Given the description of an element on the screen output the (x, y) to click on. 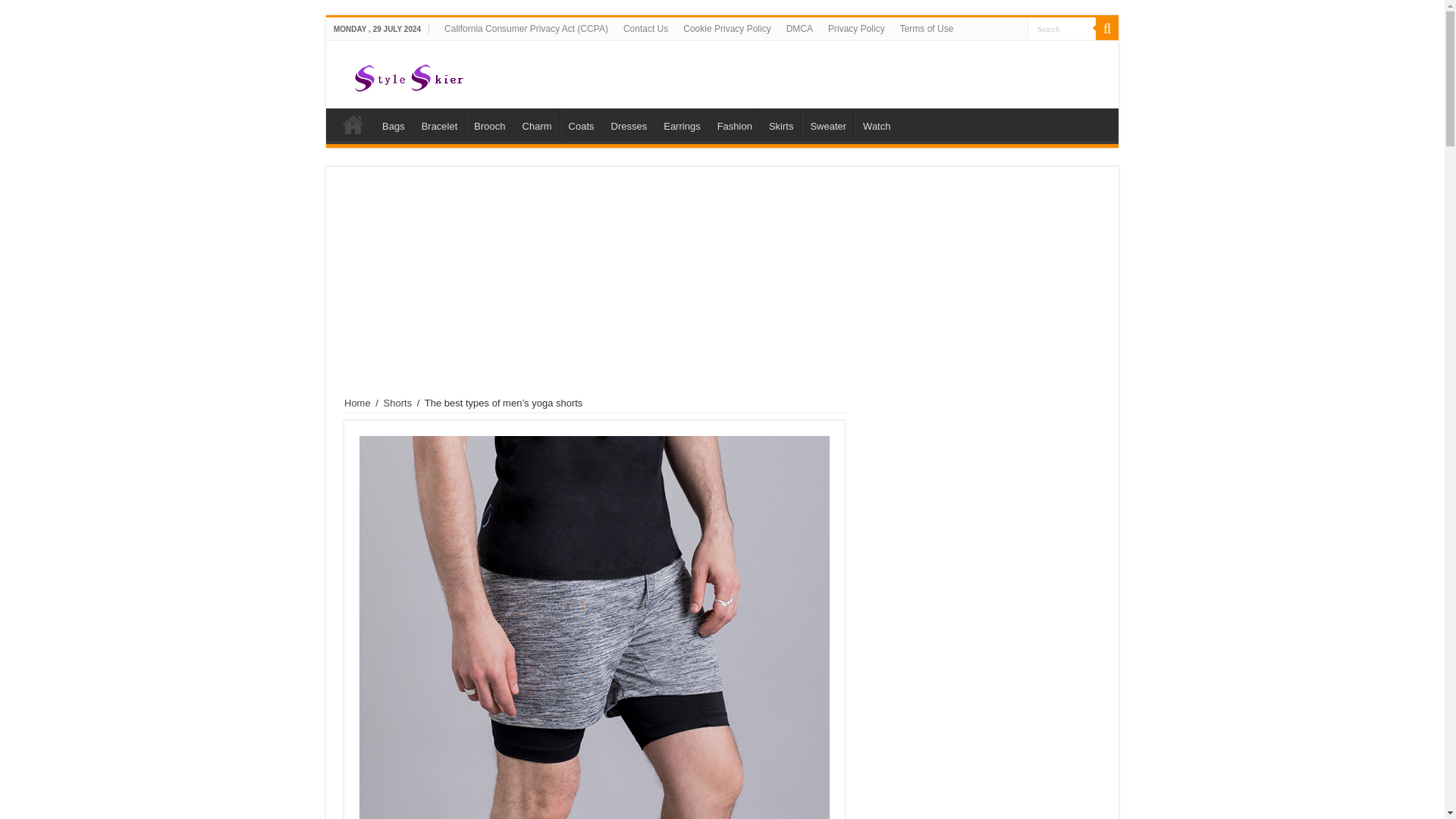
Fashion (734, 124)
Search (1107, 28)
Shorts (398, 402)
Coats (581, 124)
Earrings (681, 124)
Sweater (827, 124)
Watch (876, 124)
Home (357, 402)
Terms of Use (926, 28)
Brooch (488, 124)
Privacy Policy (856, 28)
Contact Us (645, 28)
DMCA (799, 28)
Skirts (781, 124)
